Given the description of an element on the screen output the (x, y) to click on. 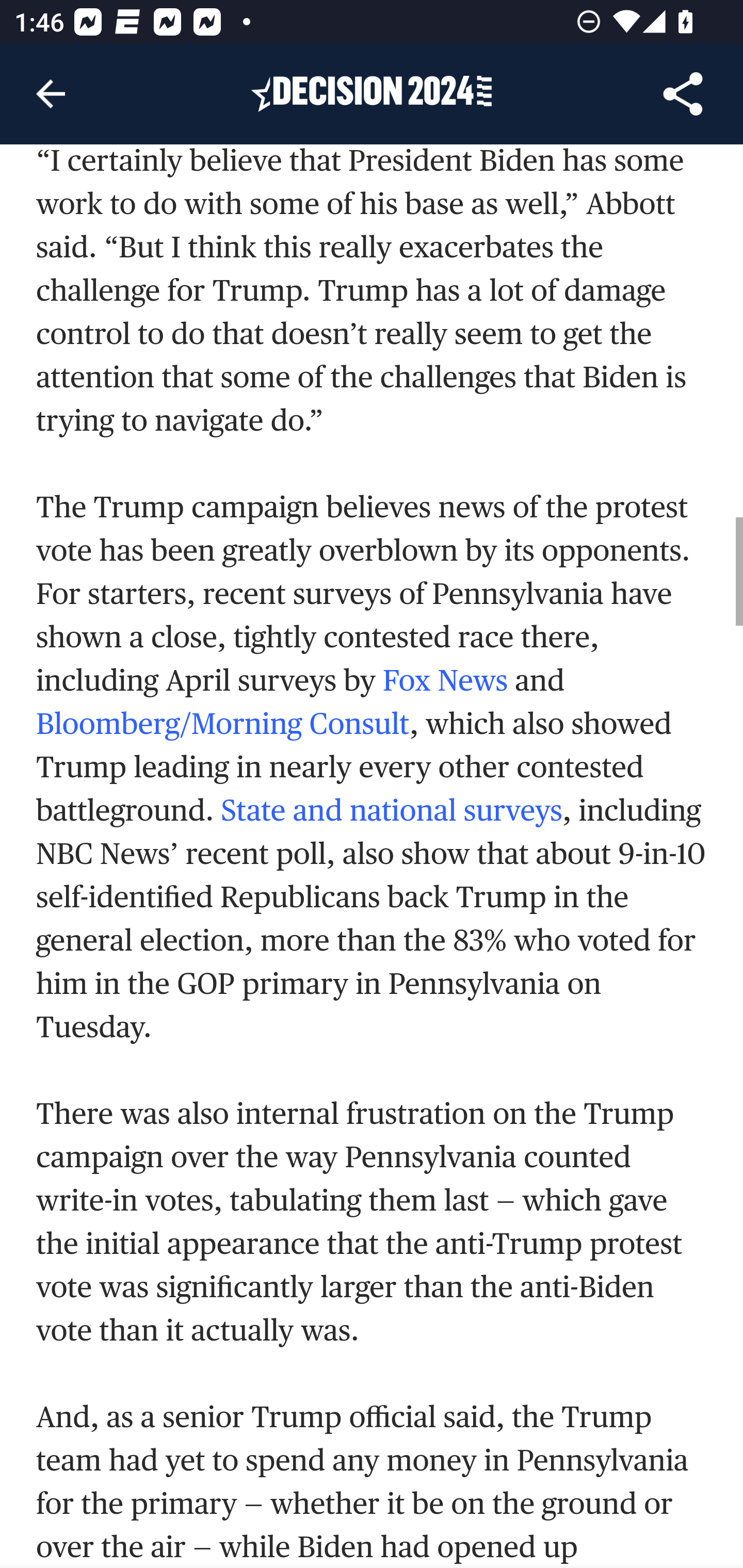
Navigate up (50, 93)
Share Article, button (683, 94)
Header, Decision 2024 (371, 93)
